Given the description of an element on the screen output the (x, y) to click on. 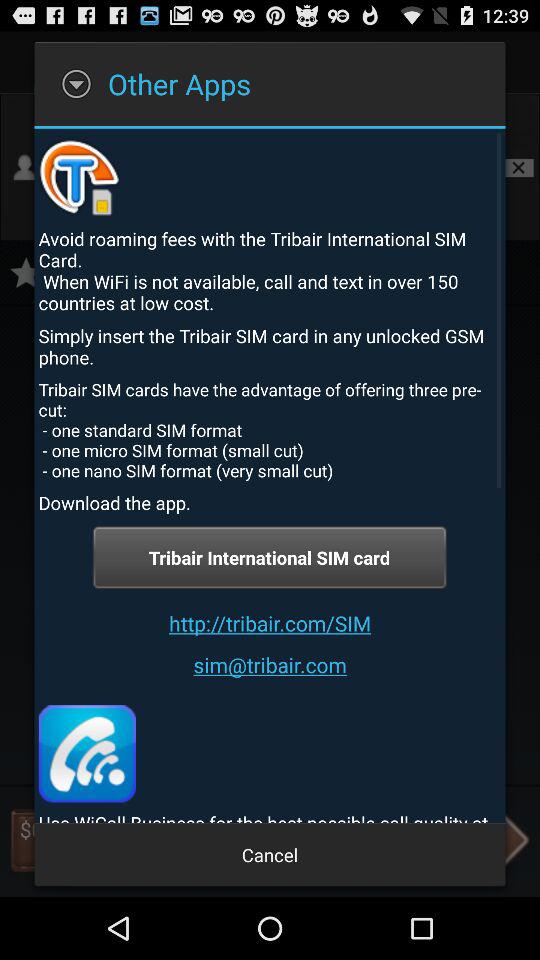
tap the icon above avoid roaming fees (80, 175)
